Given the description of an element on the screen output the (x, y) to click on. 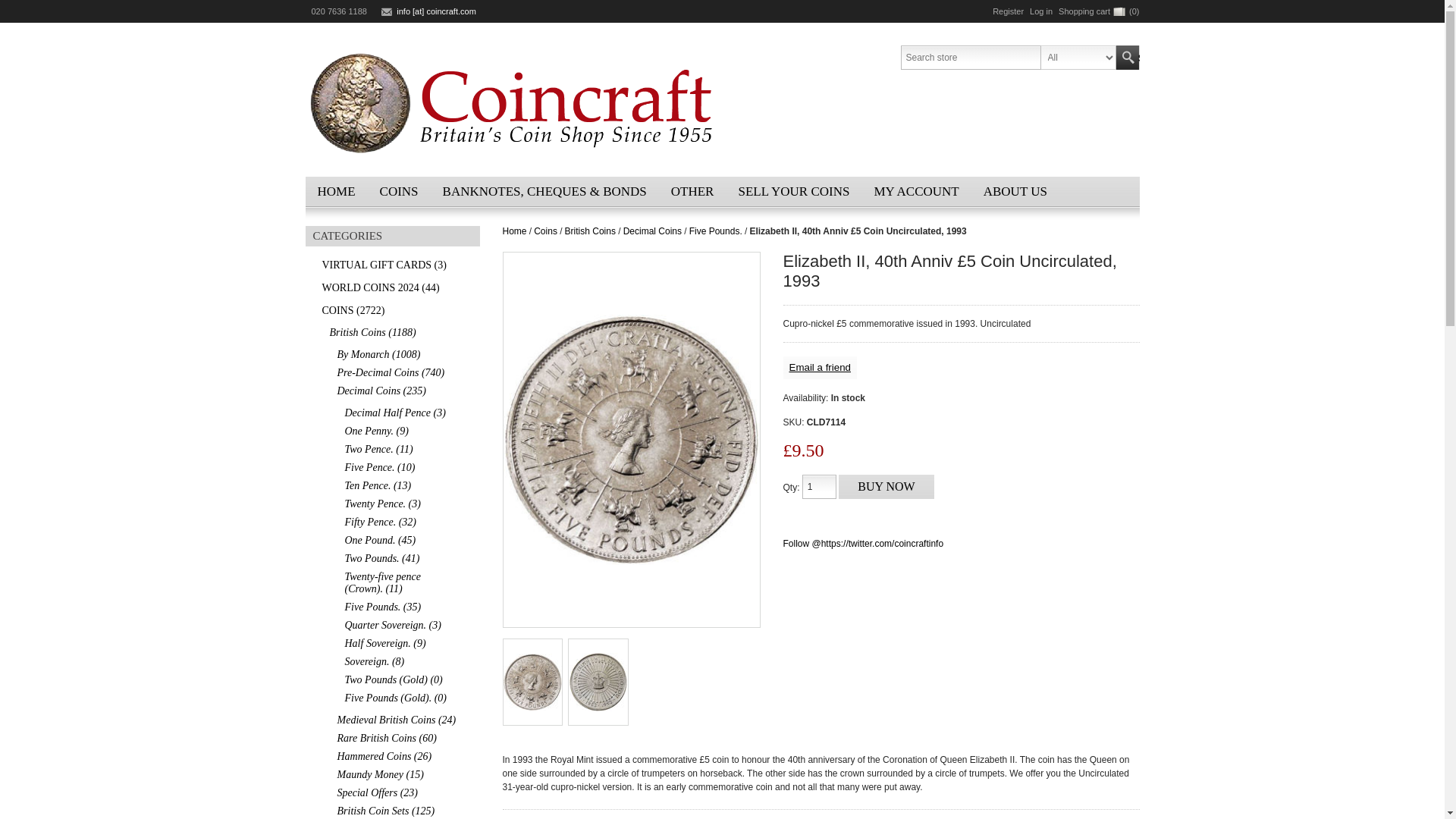
Search (1126, 57)
Register (1007, 10)
1 (818, 486)
Log in (1040, 10)
Coincraft.com (513, 101)
HOME (335, 191)
Search (1126, 57)
Buy Now (885, 486)
Search (1126, 57)
COINS (399, 191)
